Given the description of an element on the screen output the (x, y) to click on. 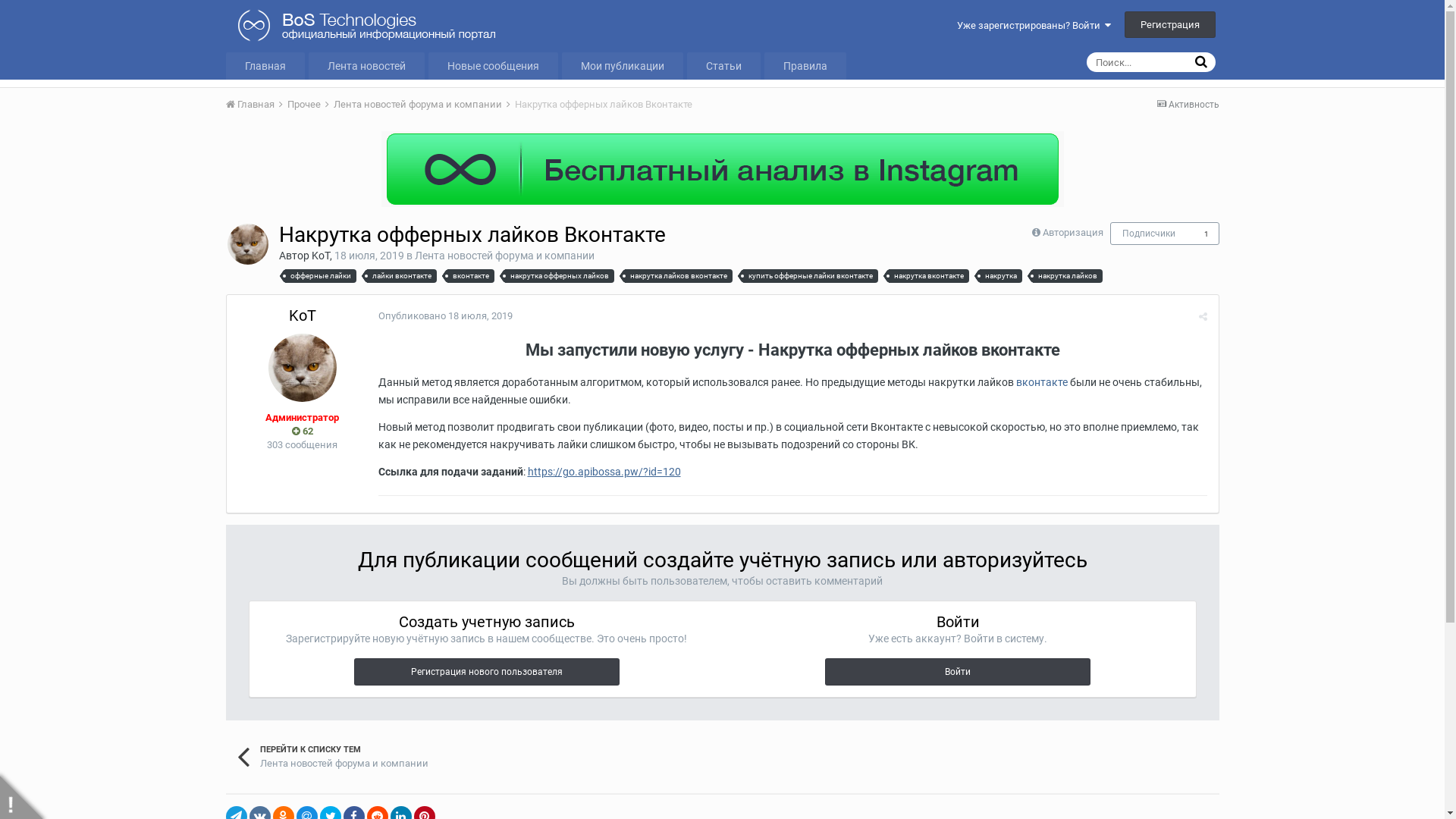
1 Element type: text (1206, 233)
KoT Element type: text (319, 255)
KoT Element type: text (301, 315)
https://go.apibossa.pw/?id=120 Element type: text (603, 471)
